Given the description of an element on the screen output the (x, y) to click on. 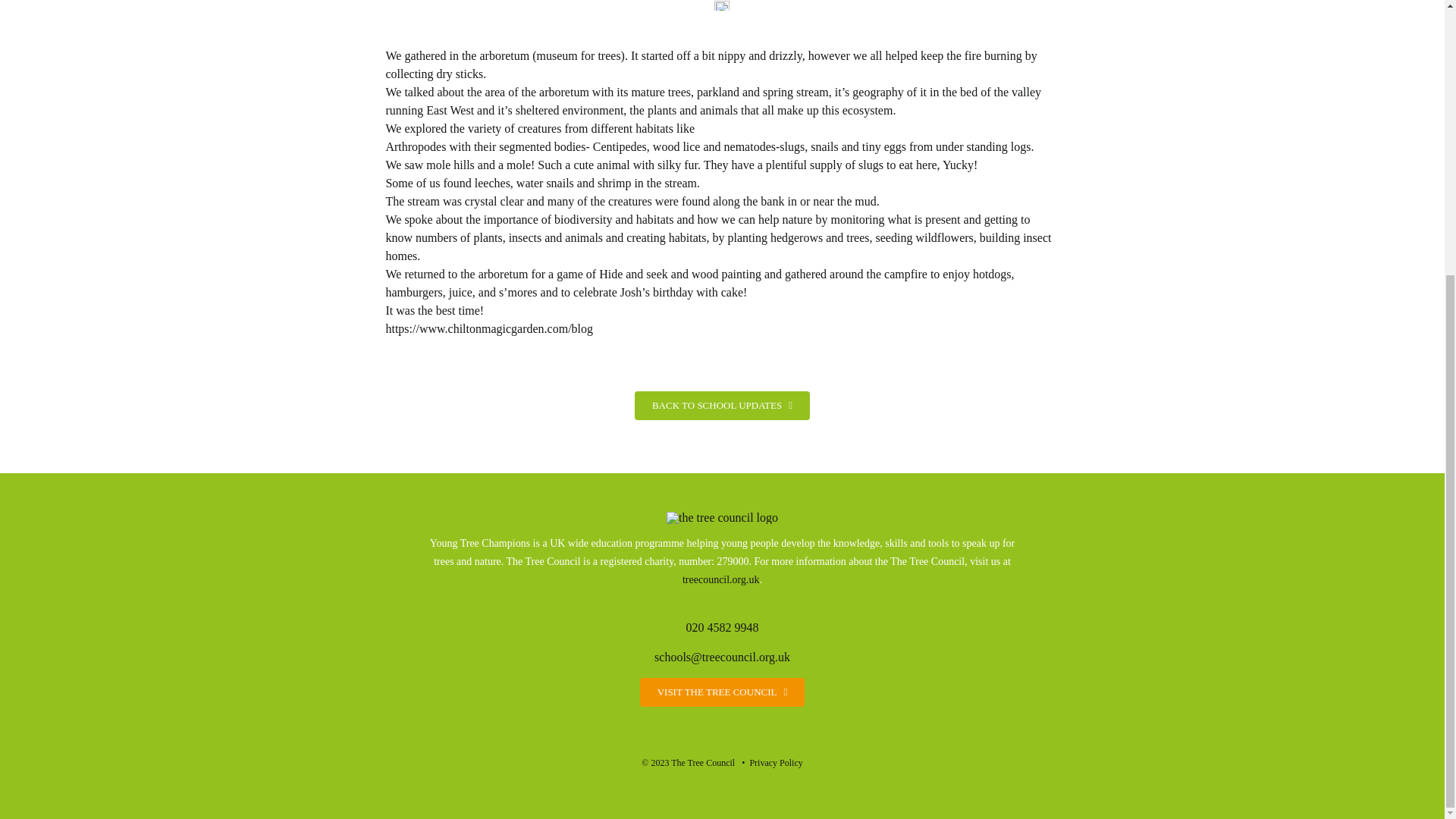
020 4582 9948 (721, 626)
VISIT THE TREE COUNCIL (722, 692)
treecouncil.org.uk (721, 579)
BACK TO SCHOOL UPDATES (721, 405)
The Tree Council master logo white no strap (721, 517)
